Given the description of an element on the screen output the (x, y) to click on. 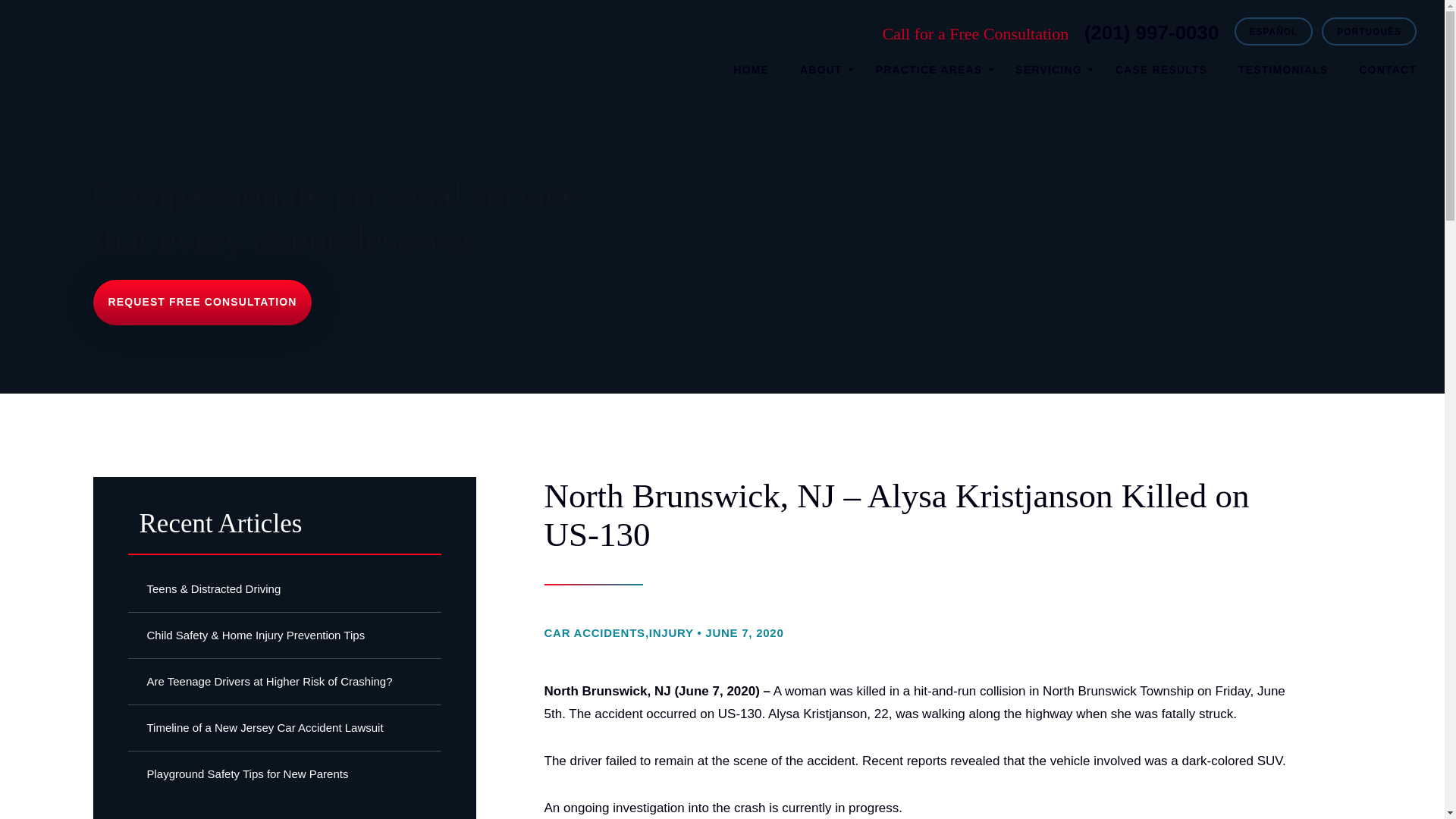
PRACTICE AREAS (930, 67)
TESTIMONIALS (1283, 67)
CONTACT (1387, 67)
REQUEST FREE CONSULTATION (202, 302)
Are Teenage Drivers at Higher Risk of Crashing? (284, 681)
ABOUT (821, 67)
SERVICING (1049, 67)
CASE RESULTS (1161, 67)
INJURY (671, 632)
Call for a Free Consultation (1152, 32)
CAR ACCIDENTS (594, 632)
